Given the description of an element on the screen output the (x, y) to click on. 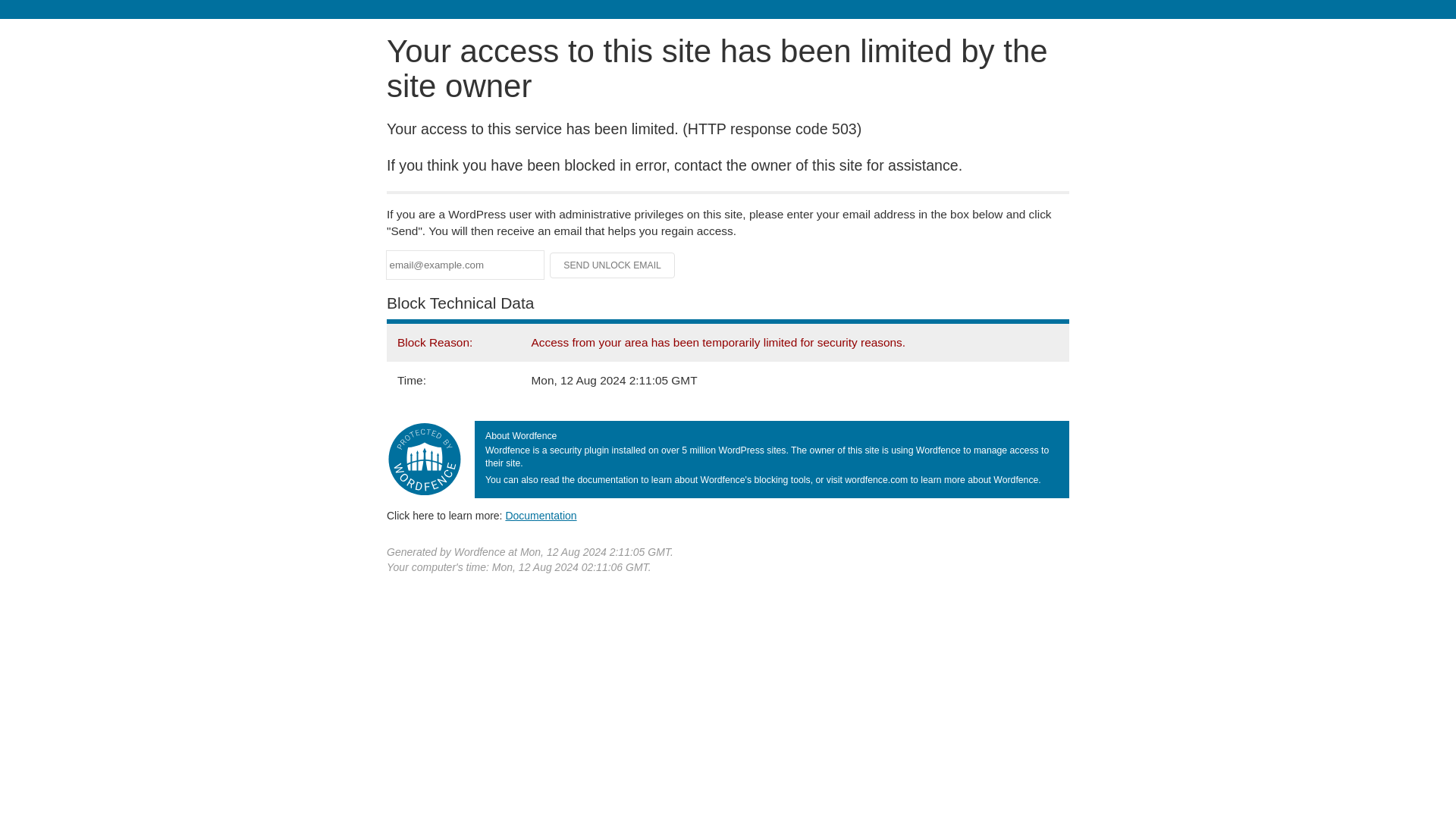
Send Unlock Email (612, 265)
Documentation (540, 515)
Send Unlock Email (612, 265)
